Given the description of an element on the screen output the (x, y) to click on. 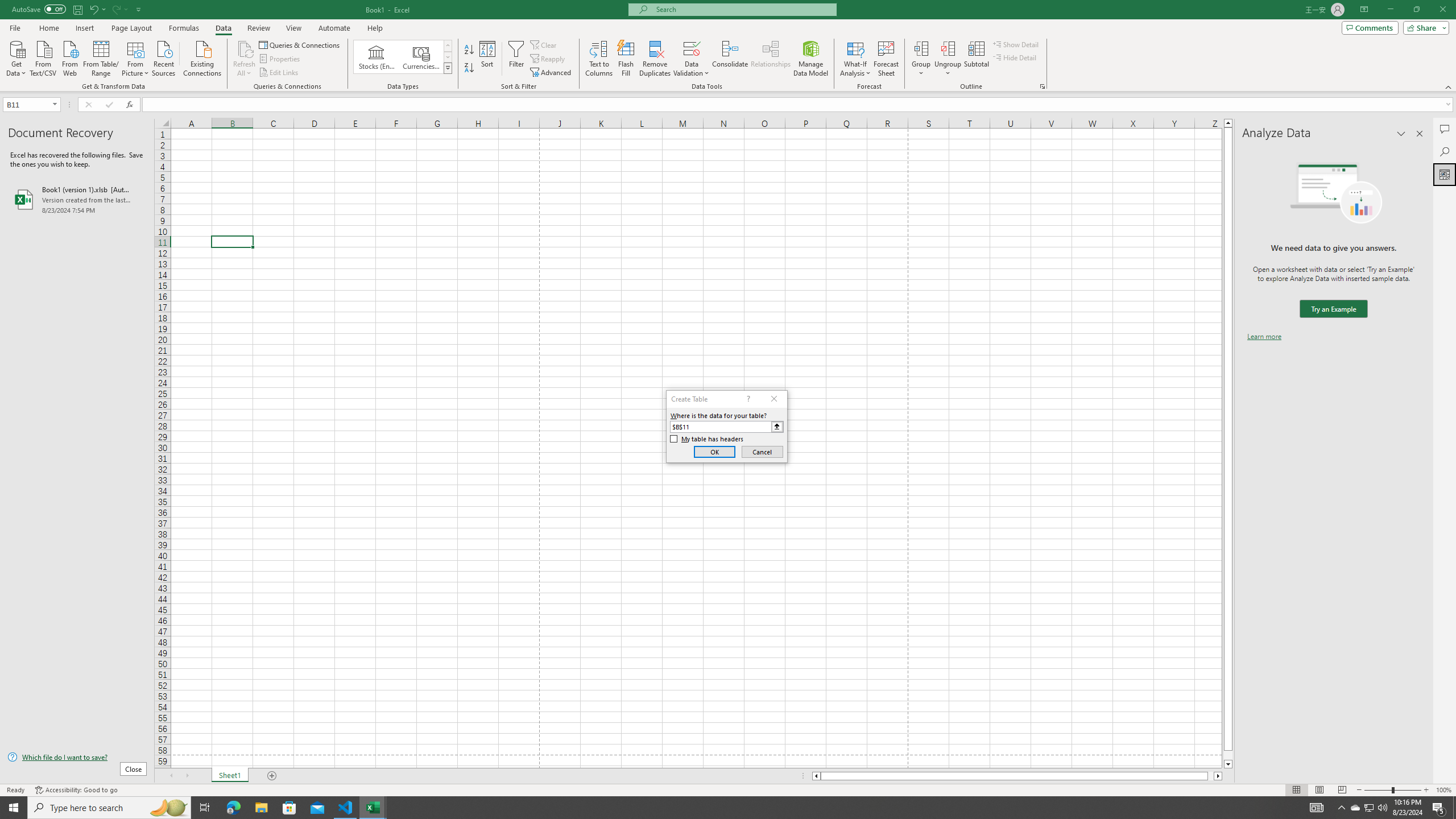
Stocks (English) (375, 56)
Search (1444, 151)
Edit Links (279, 72)
Subtotal (976, 58)
Remove Duplicates (654, 58)
